Given the description of an element on the screen output the (x, y) to click on. 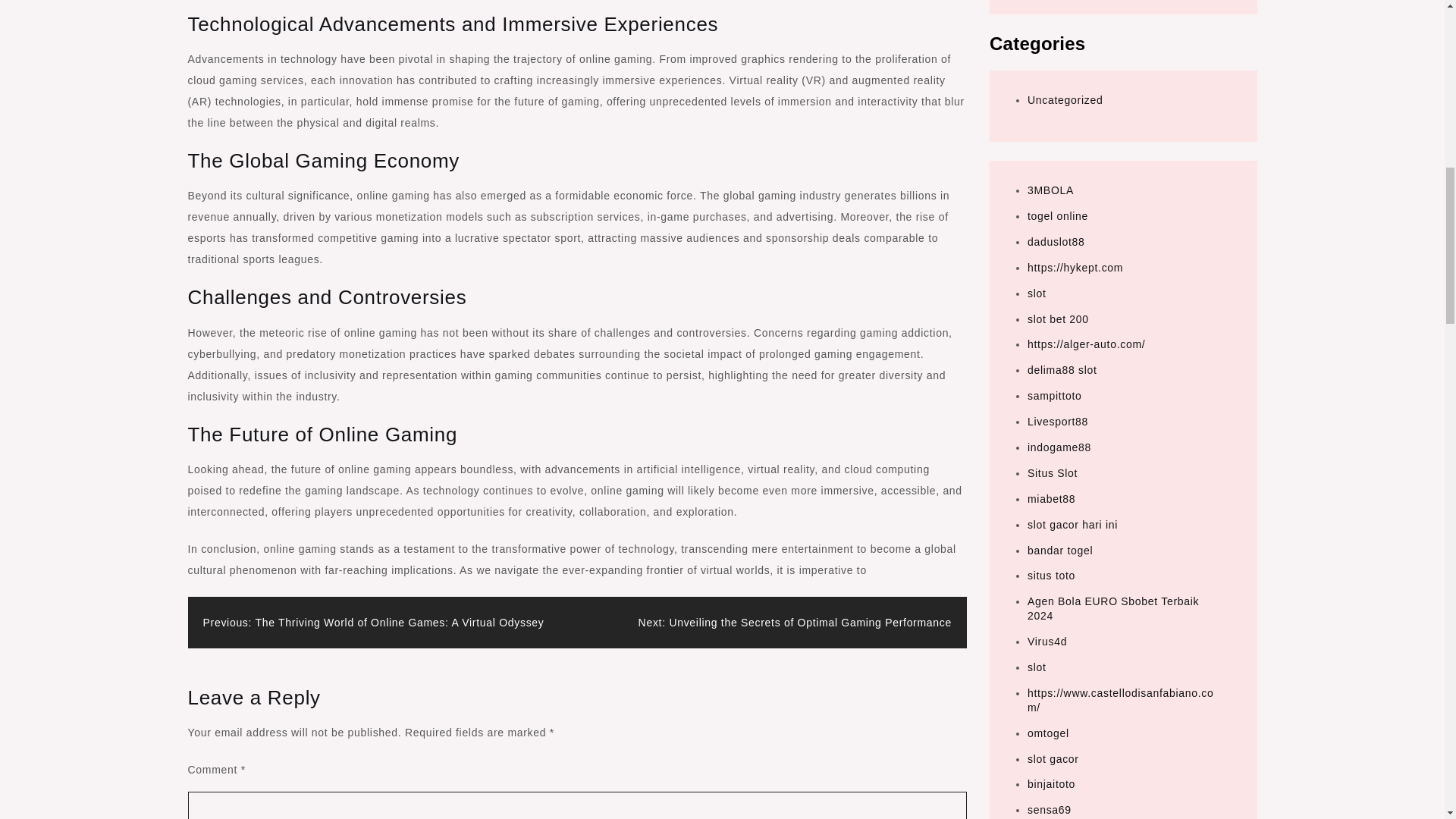
Next: Unveiling the Secrets of Optimal Gaming Performance (795, 622)
slot bet 200 (1058, 318)
togel online (1057, 215)
indogame88 (1058, 447)
delima88 slot (1062, 369)
Uncategorized (1064, 100)
Livesport88 (1057, 421)
sampittoto (1054, 395)
3MBOLA (1050, 190)
slot (1036, 293)
daduslot88 (1055, 241)
